Given the description of an element on the screen output the (x, y) to click on. 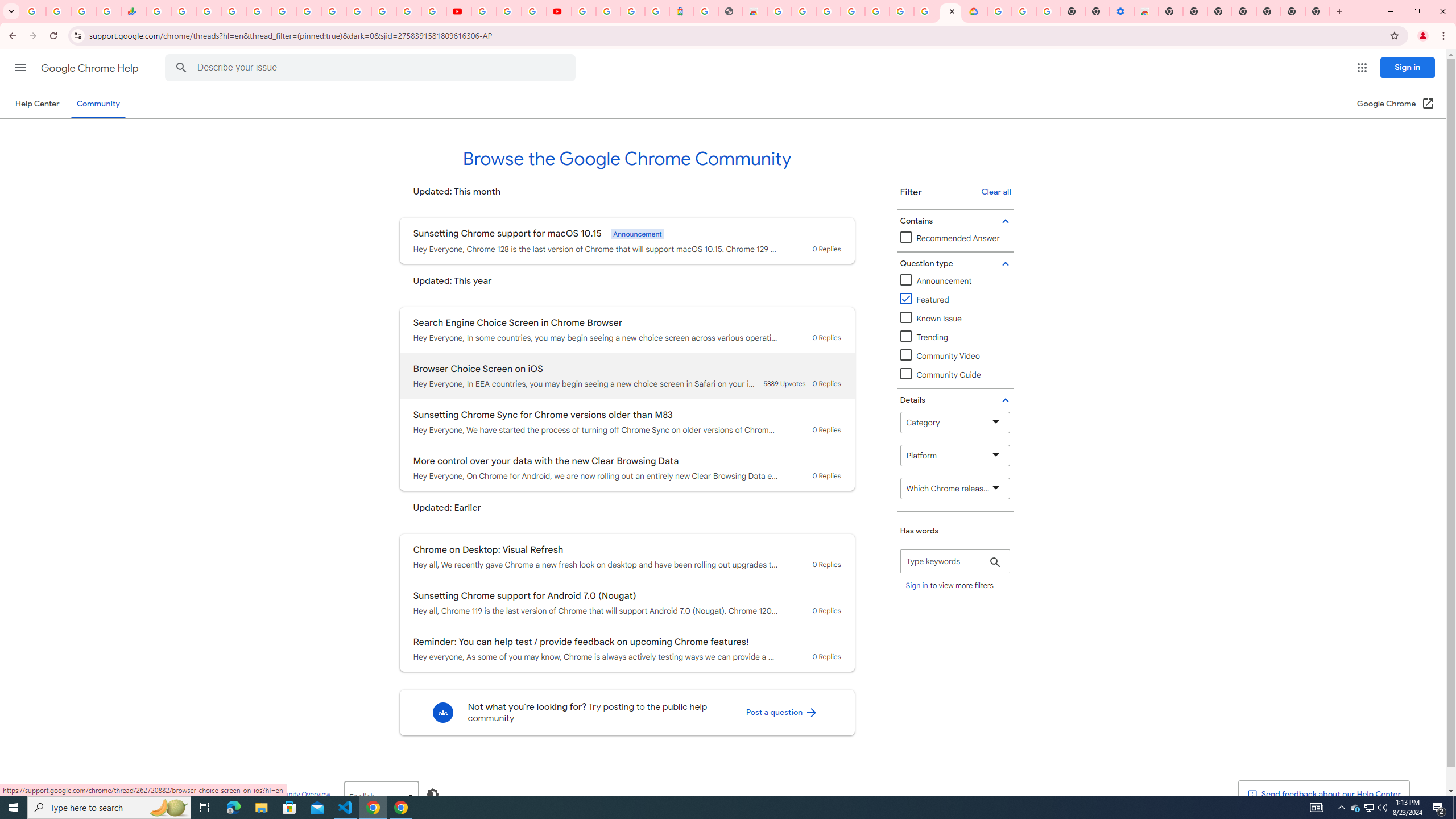
Turn cookies on or off - Computer - Google Account Help (1047, 11)
Community Video (954, 355)
Create your Google Account (925, 11)
Enable Dark Mode (432, 794)
Has words (954, 561)
 Send feedback about our Help Center (1323, 794)
Google Account Help (876, 11)
New Tab (1170, 11)
Featured (924, 300)
